Given the description of an element on the screen output the (x, y) to click on. 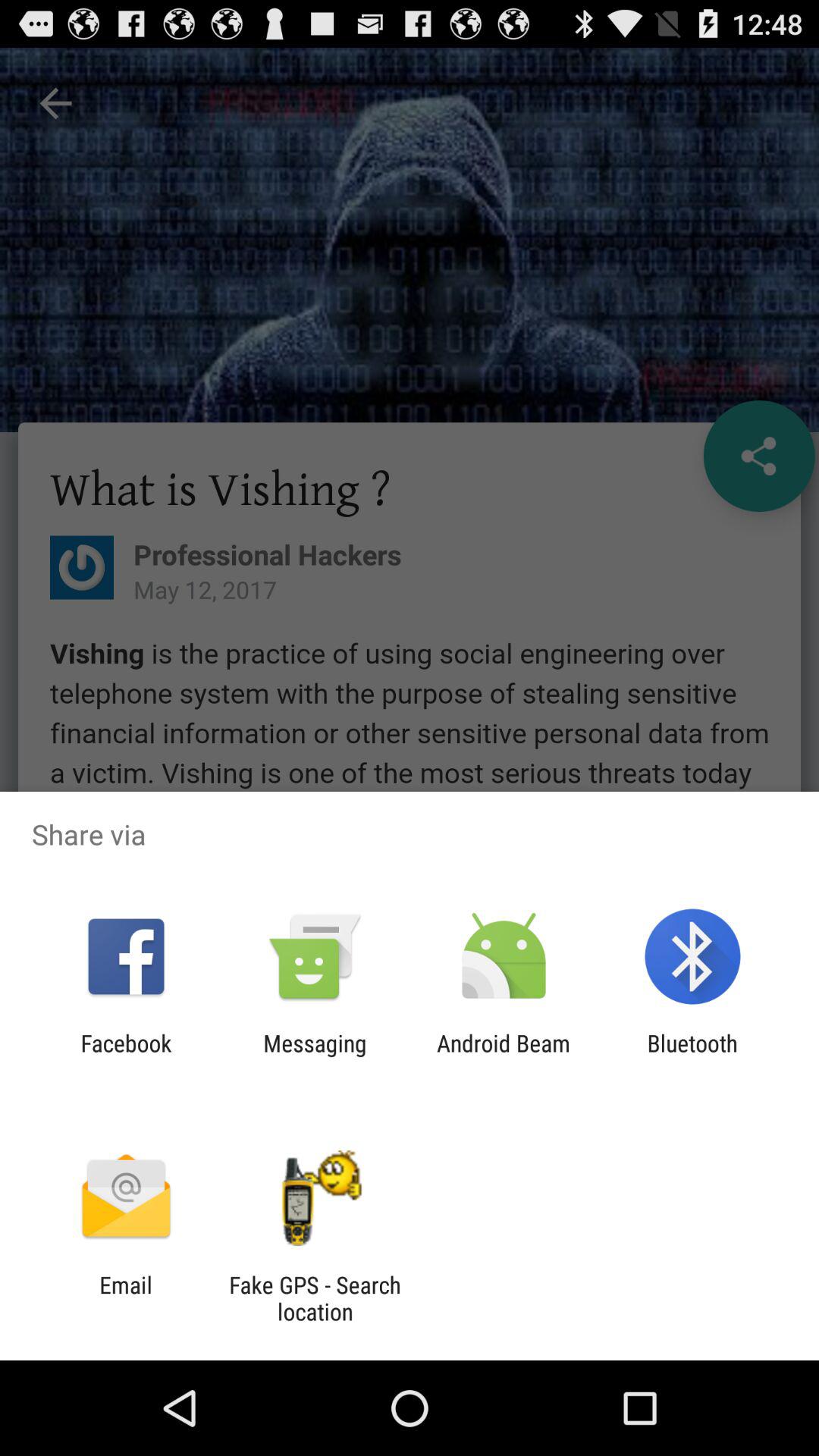
choose app to the right of the messaging icon (503, 1056)
